Given the description of an element on the screen output the (x, y) to click on. 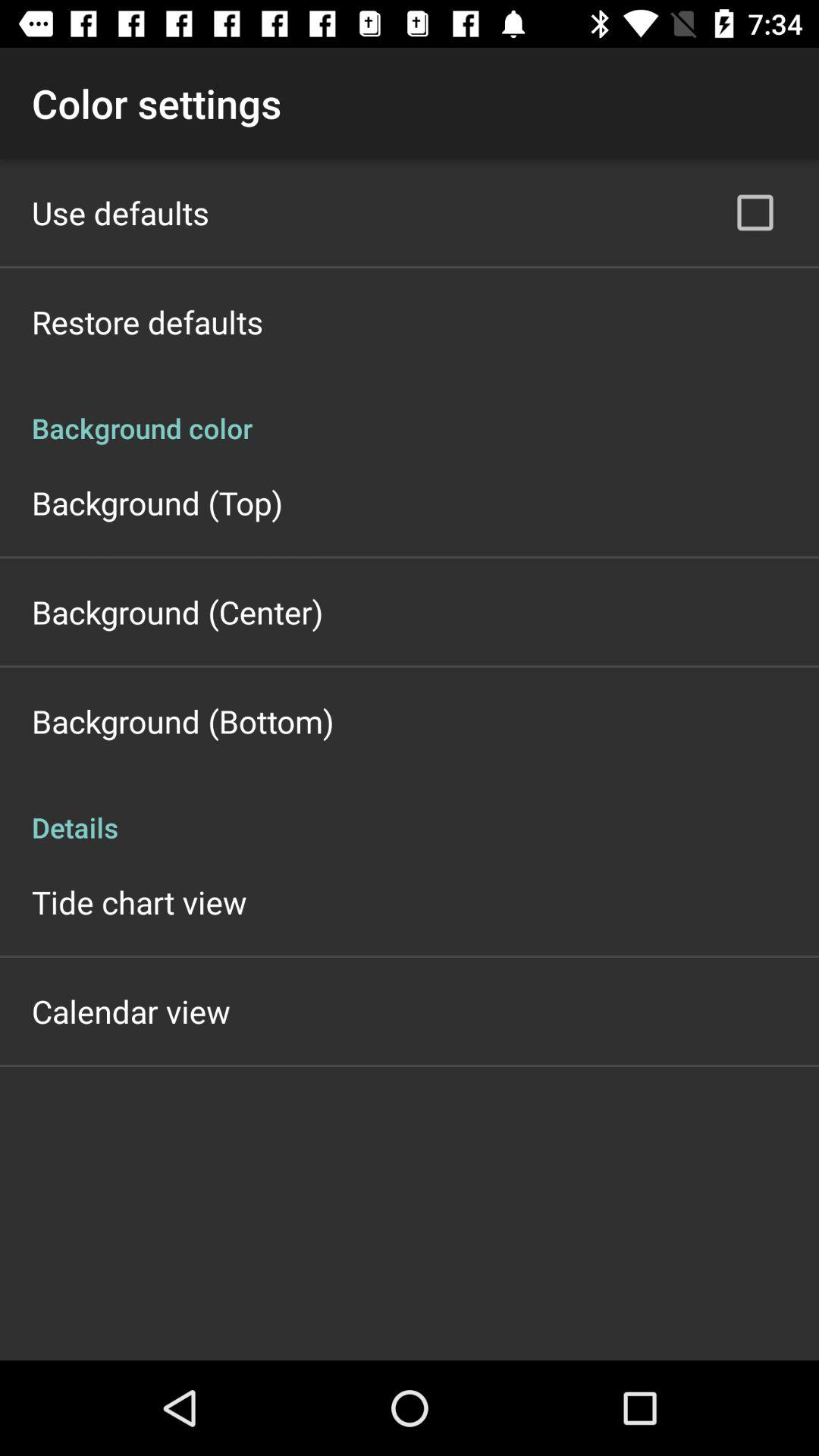
turn on use defaults icon (120, 212)
